Given the description of an element on the screen output the (x, y) to click on. 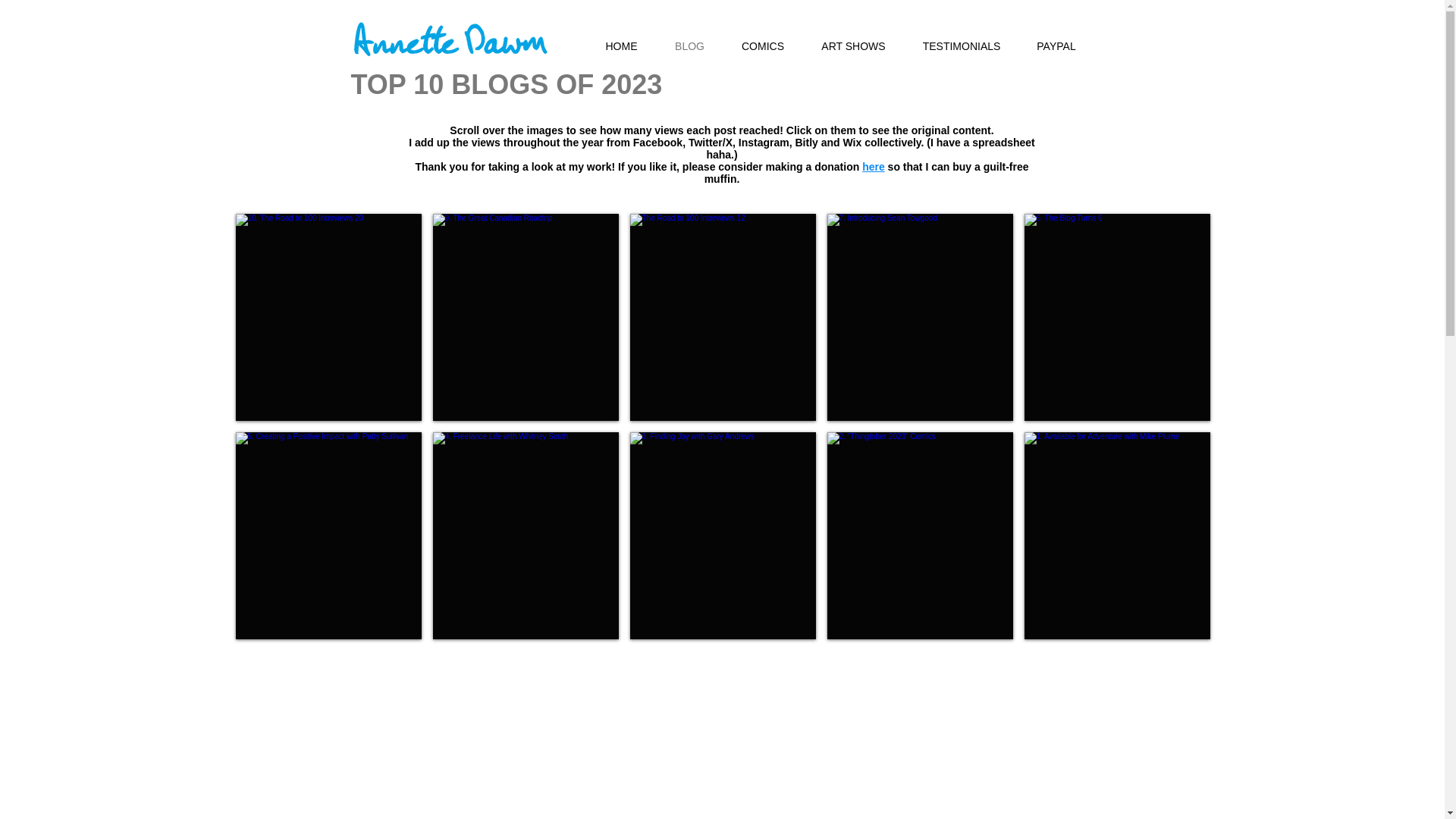
here (873, 166)
BLOG (689, 46)
TESTIMONIALS (960, 46)
COMICS (763, 46)
HOME (621, 46)
ART SHOWS (853, 46)
PAYPAL (1056, 46)
